Given the description of an element on the screen output the (x, y) to click on. 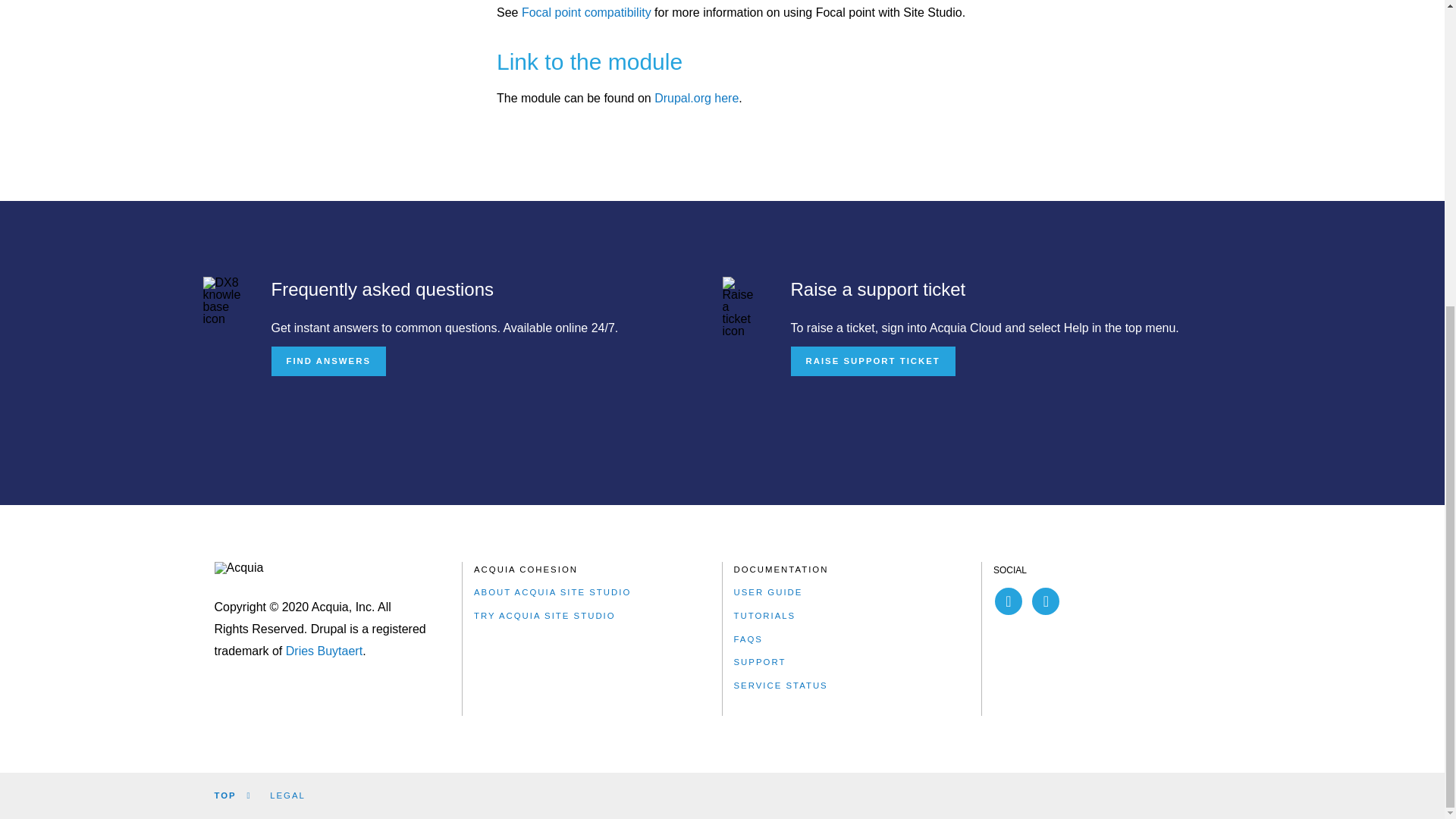
Acquia Site Studio (526, 569)
User guide (768, 592)
TOP (232, 795)
DX8 knowledge base (222, 300)
Raise a ticket icon (741, 306)
Raise a support ticket (872, 359)
About Site Studio (552, 592)
Tutorials (764, 616)
Documentation (780, 569)
Try Acquia Site Studio (544, 616)
